Given the description of an element on the screen output the (x, y) to click on. 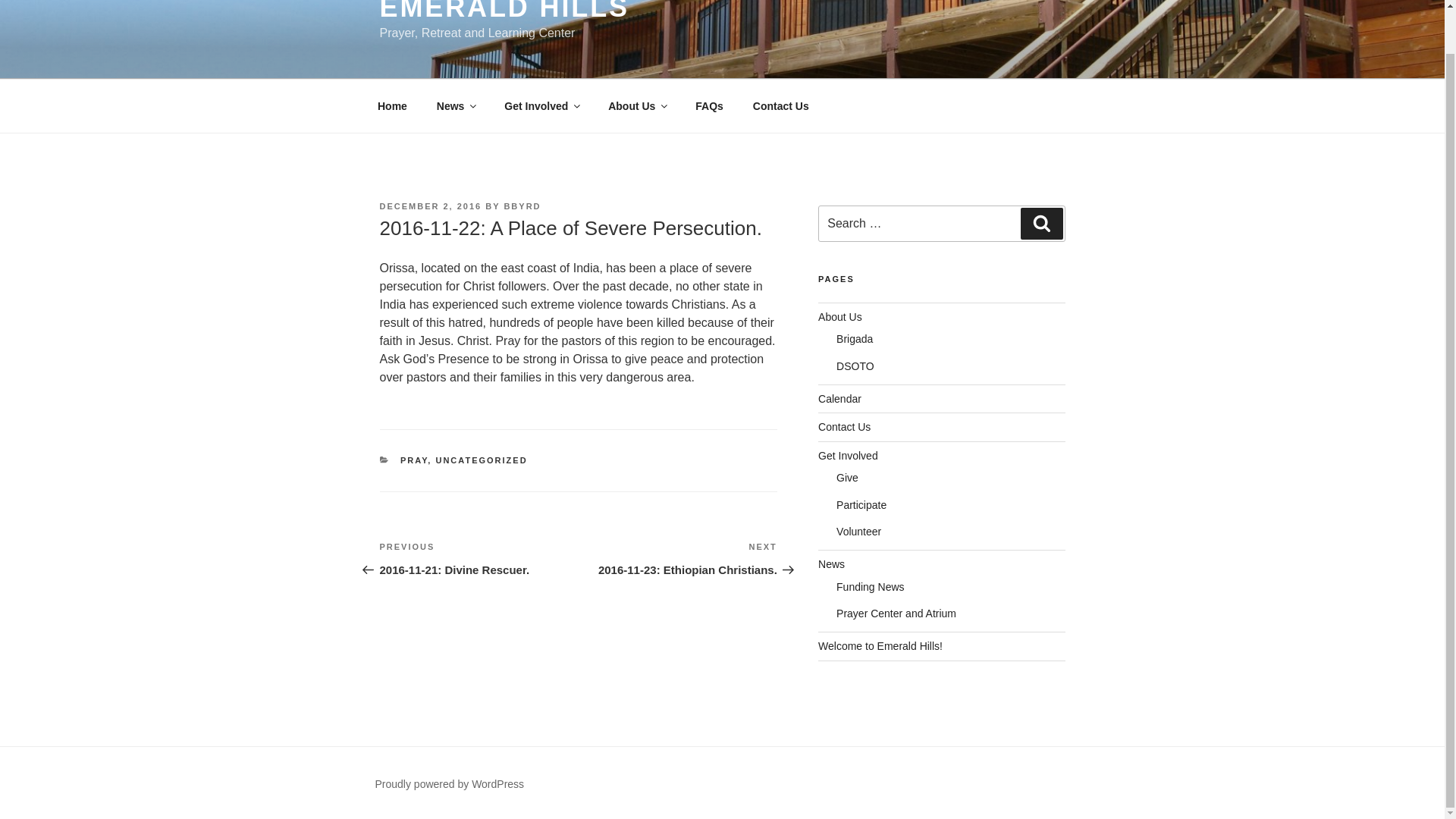
About Us (637, 105)
News (455, 105)
News (831, 563)
EMERALD HILLS (503, 11)
Welcome to Emerald Hills! (880, 645)
PRAY (414, 460)
Home (392, 105)
Get Involved (847, 455)
Search (1041, 223)
Brigada (853, 338)
